Given the description of an element on the screen output the (x, y) to click on. 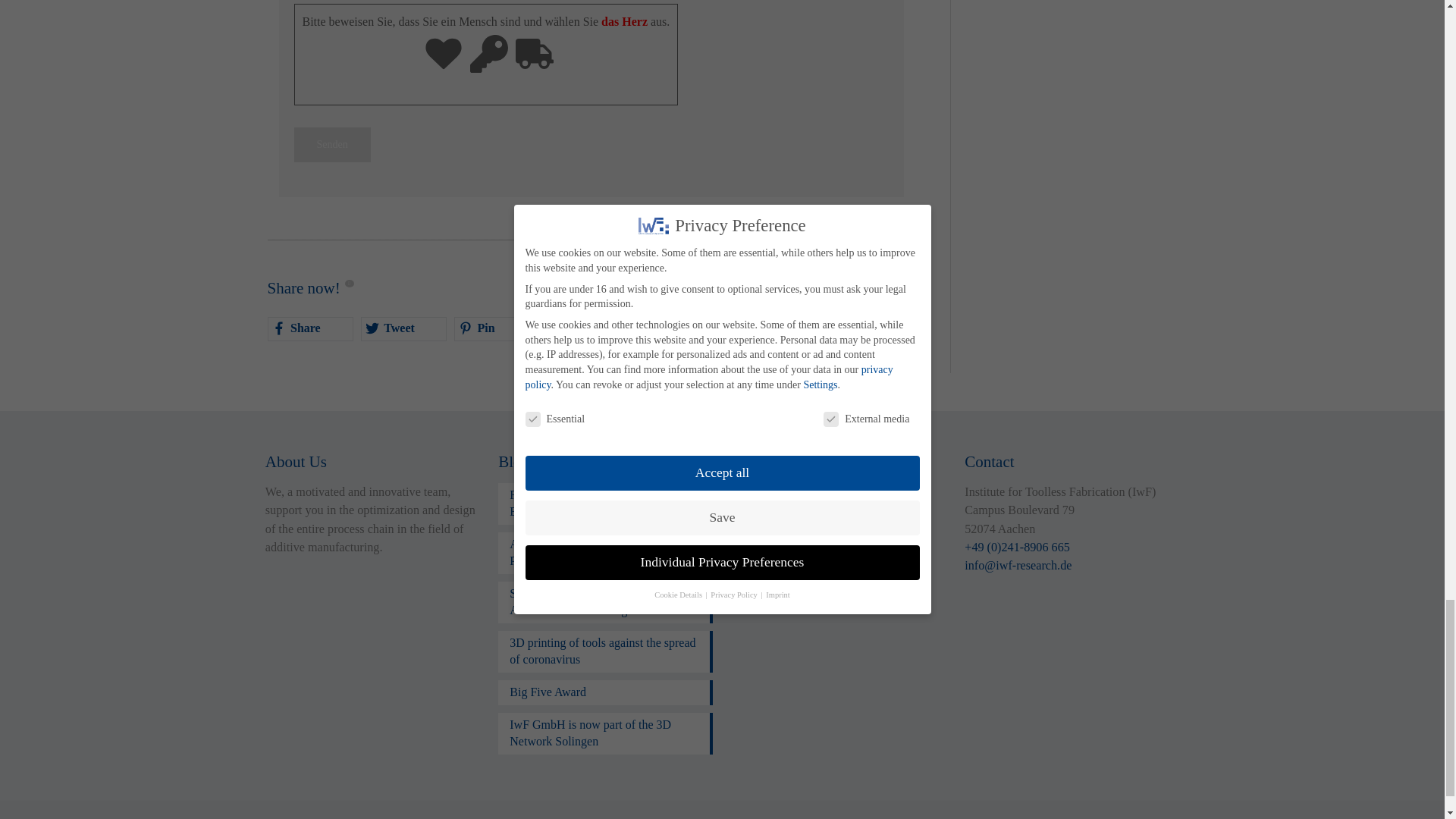
Senden (332, 144)
